Given the description of an element on the screen output the (x, y) to click on. 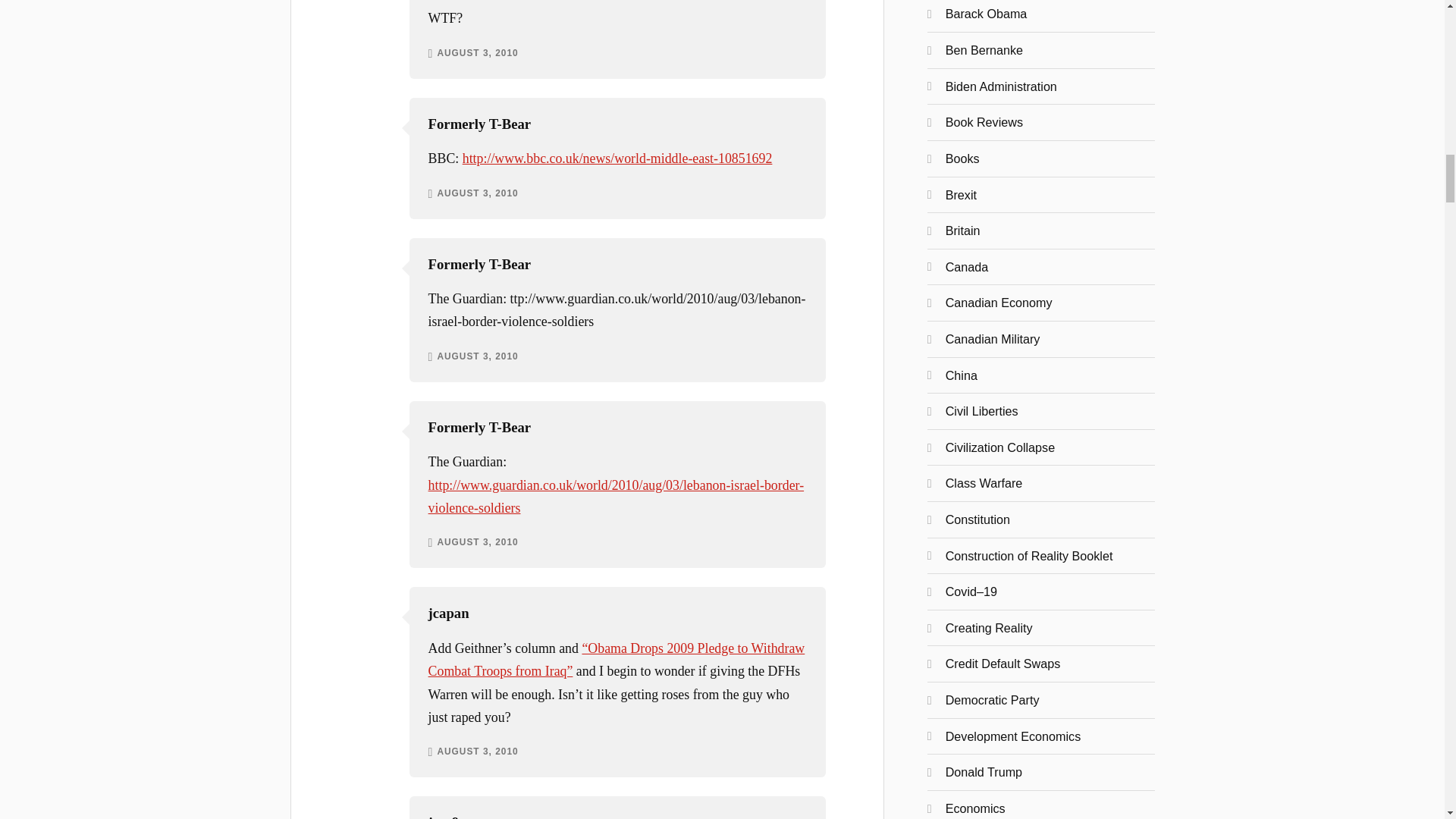
AUGUST 3, 2010 (477, 356)
AUGUST 3, 2010 (477, 194)
AUGUST 3, 2010 (477, 53)
AUGUST 3, 2010 (477, 542)
AUGUST 3, 2010 (477, 751)
